Given the description of an element on the screen output the (x, y) to click on. 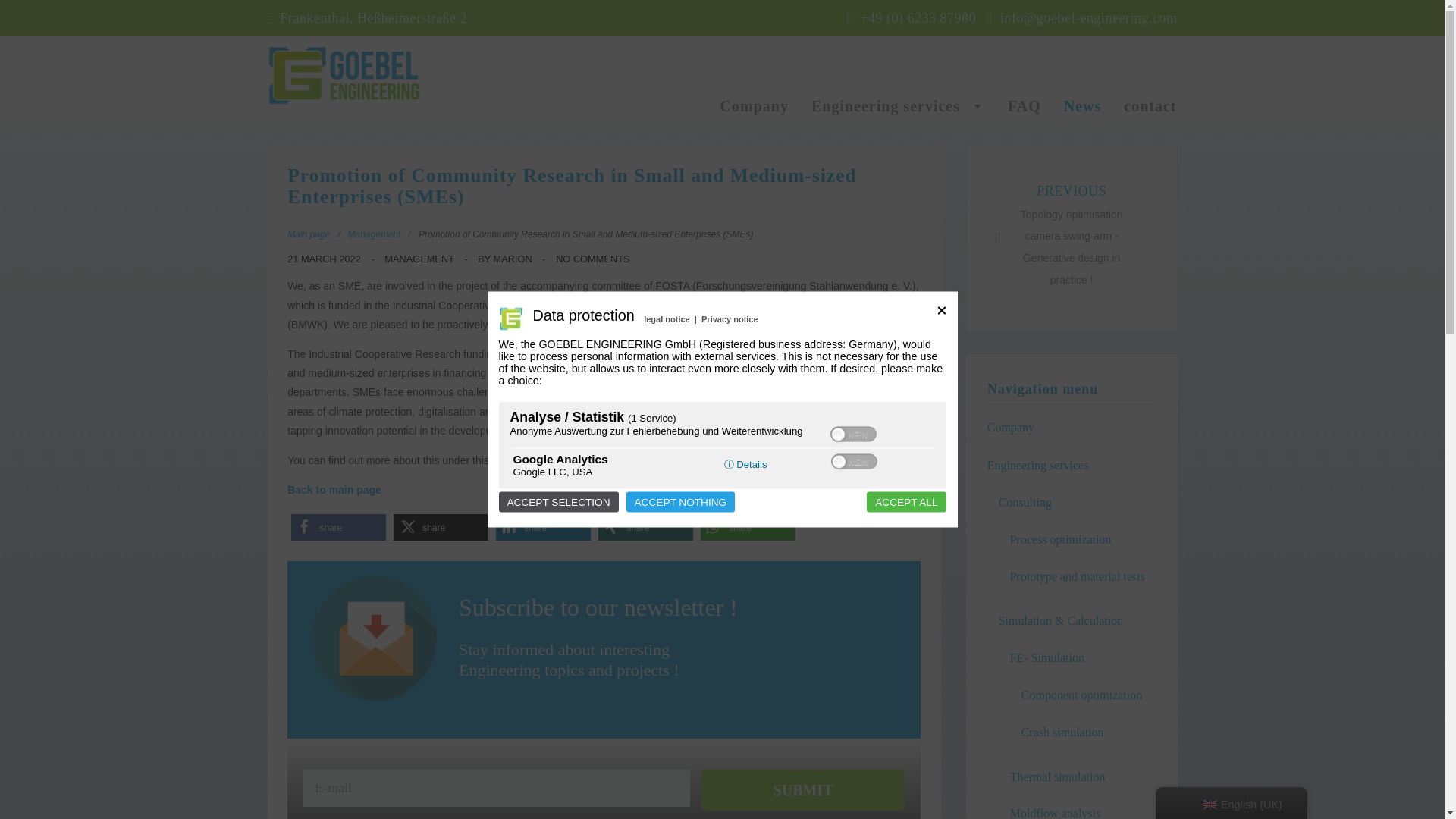
Link. (504, 460)
NO COMMENTS (592, 258)
FAQ (1024, 105)
Engineering services (897, 105)
share  (440, 527)
share  (543, 527)
MANAGEMENT (418, 258)
share  (747, 527)
Company (754, 105)
News (1083, 105)
Engineering services (1038, 464)
MARION (512, 258)
contact (1150, 105)
share  (645, 527)
SUBMIT (802, 789)
